Given the description of an element on the screen output the (x, y) to click on. 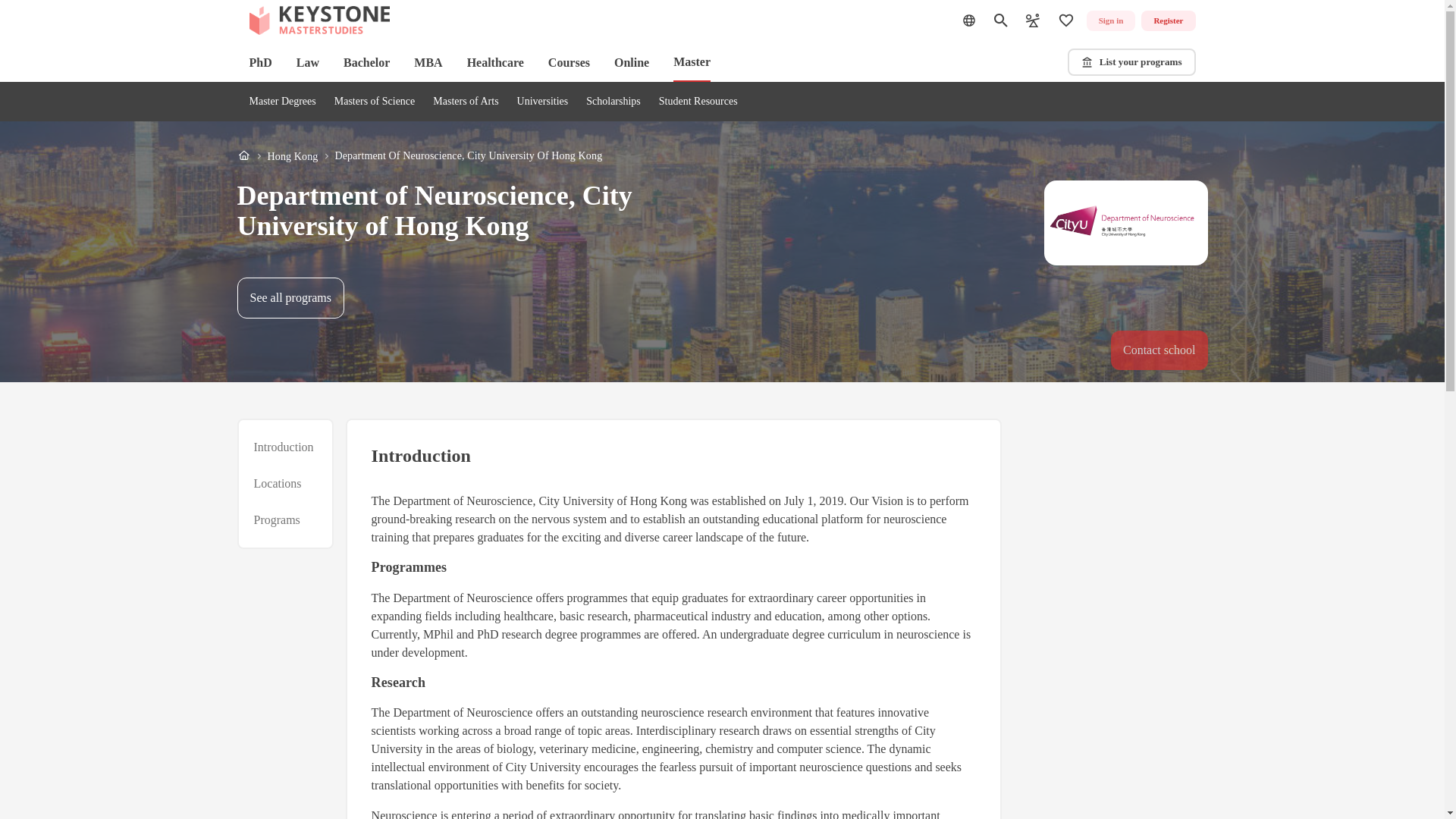
Locations (277, 484)
Online (631, 63)
Universities (542, 101)
Scholarships (613, 101)
Healthcare (495, 63)
Introduction (283, 447)
Contact school (1159, 350)
Master Degrees (281, 101)
Sign in (1110, 20)
